Given the description of an element on the screen output the (x, y) to click on. 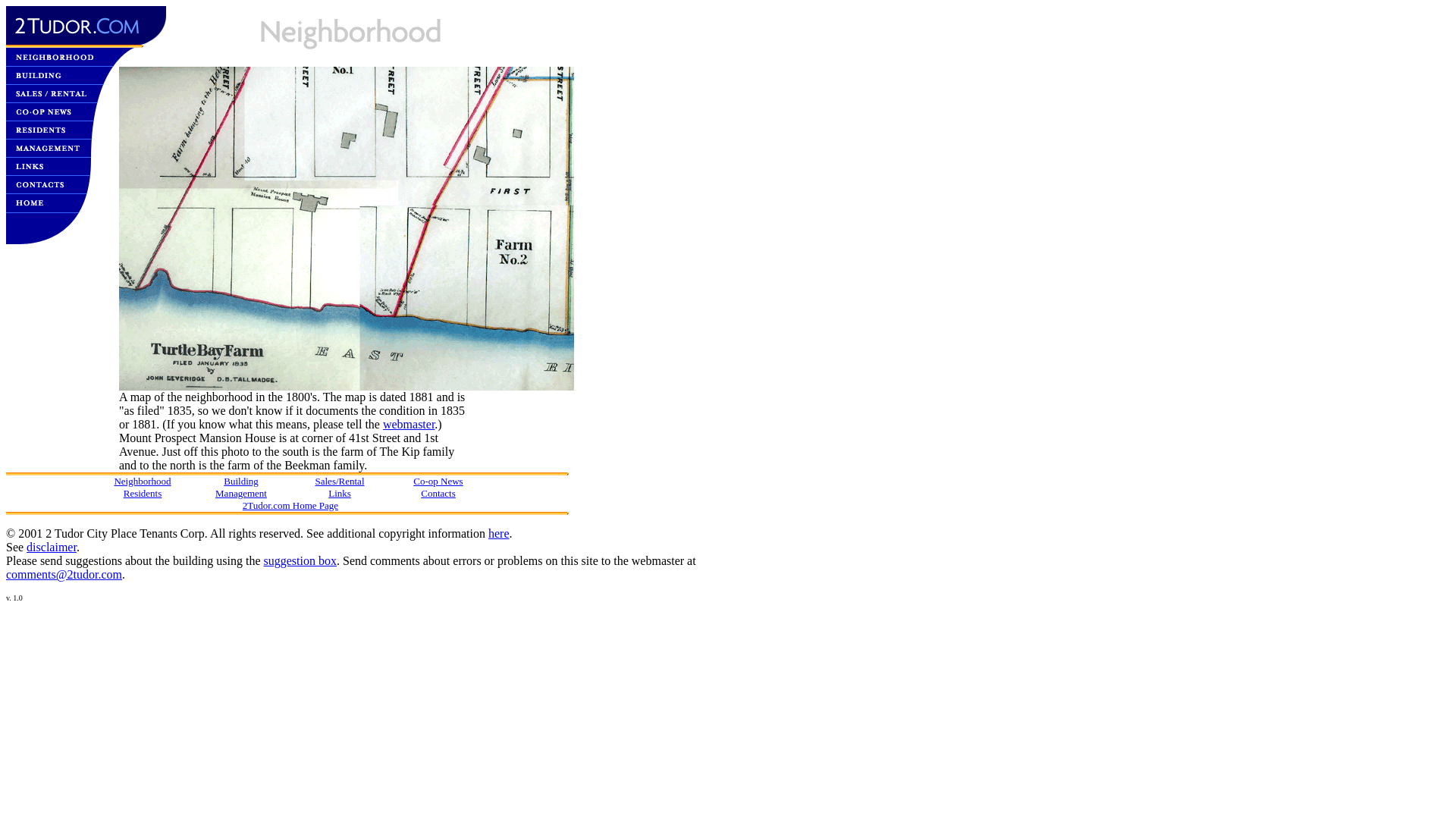
Contacts Element type: text (437, 492)
here Element type: text (498, 533)
Neighborhood Element type: text (141, 479)
suggestion box Element type: text (299, 560)
comments@2tudor.com Element type: text (64, 573)
Management Element type: text (240, 492)
Links Element type: text (339, 492)
disclaimer Element type: text (51, 546)
Co-op News Element type: text (437, 480)
webmaster Element type: text (408, 423)
2Tudor.com Home Page Element type: text (290, 504)
Building Element type: text (240, 479)
Residents Element type: text (142, 492)
Sales/Rental Element type: text (339, 479)
